Given the description of an element on the screen output the (x, y) to click on. 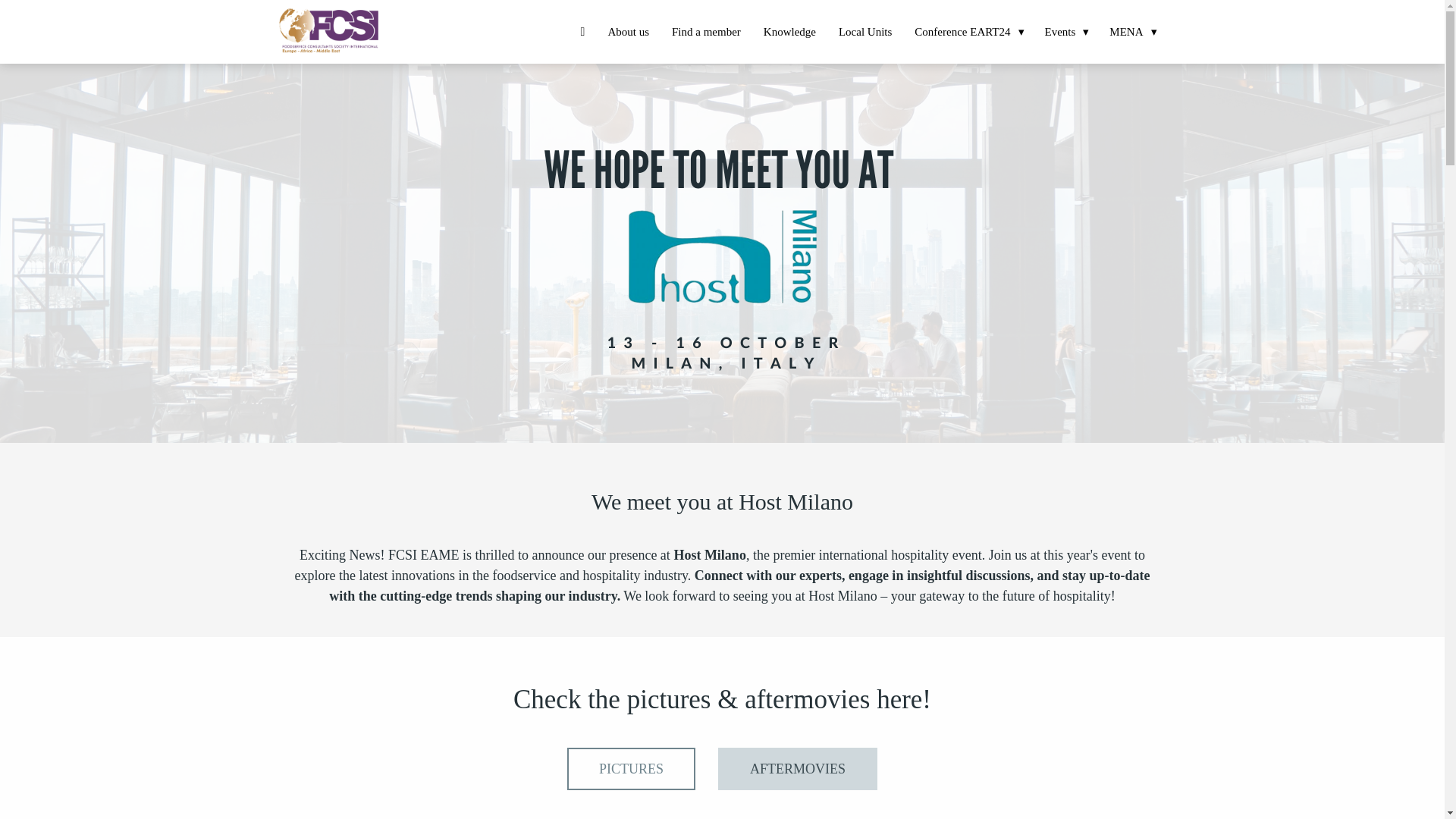
About us (628, 30)
PICTURES (631, 768)
Local Units (864, 30)
Find a member (706, 30)
AFTERMOVIES (797, 768)
Knowledge (789, 30)
